Given the description of an element on the screen output the (x, y) to click on. 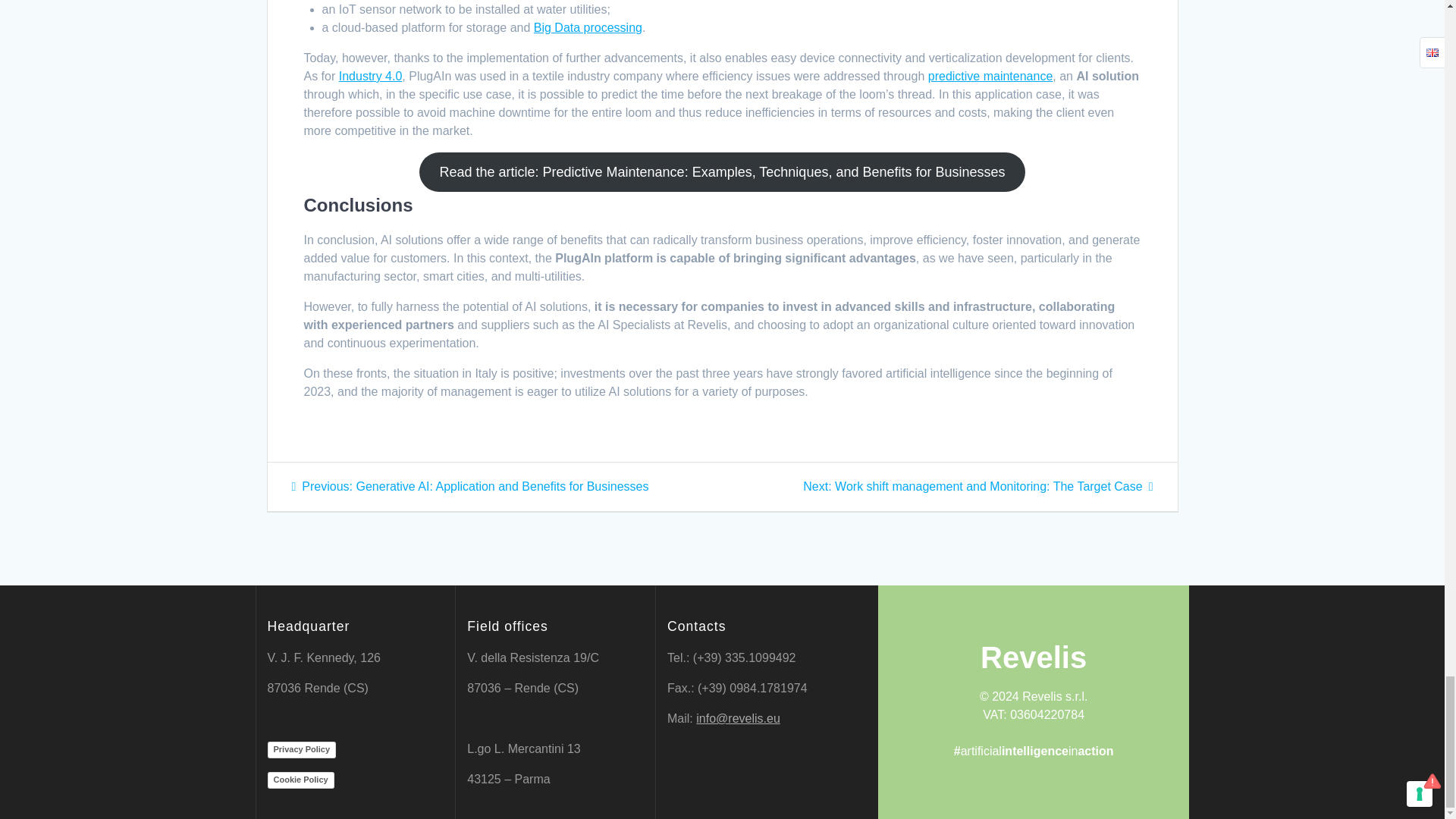
Cookie Policy (299, 780)
Privacy Policy (301, 750)
